Given the description of an element on the screen output the (x, y) to click on. 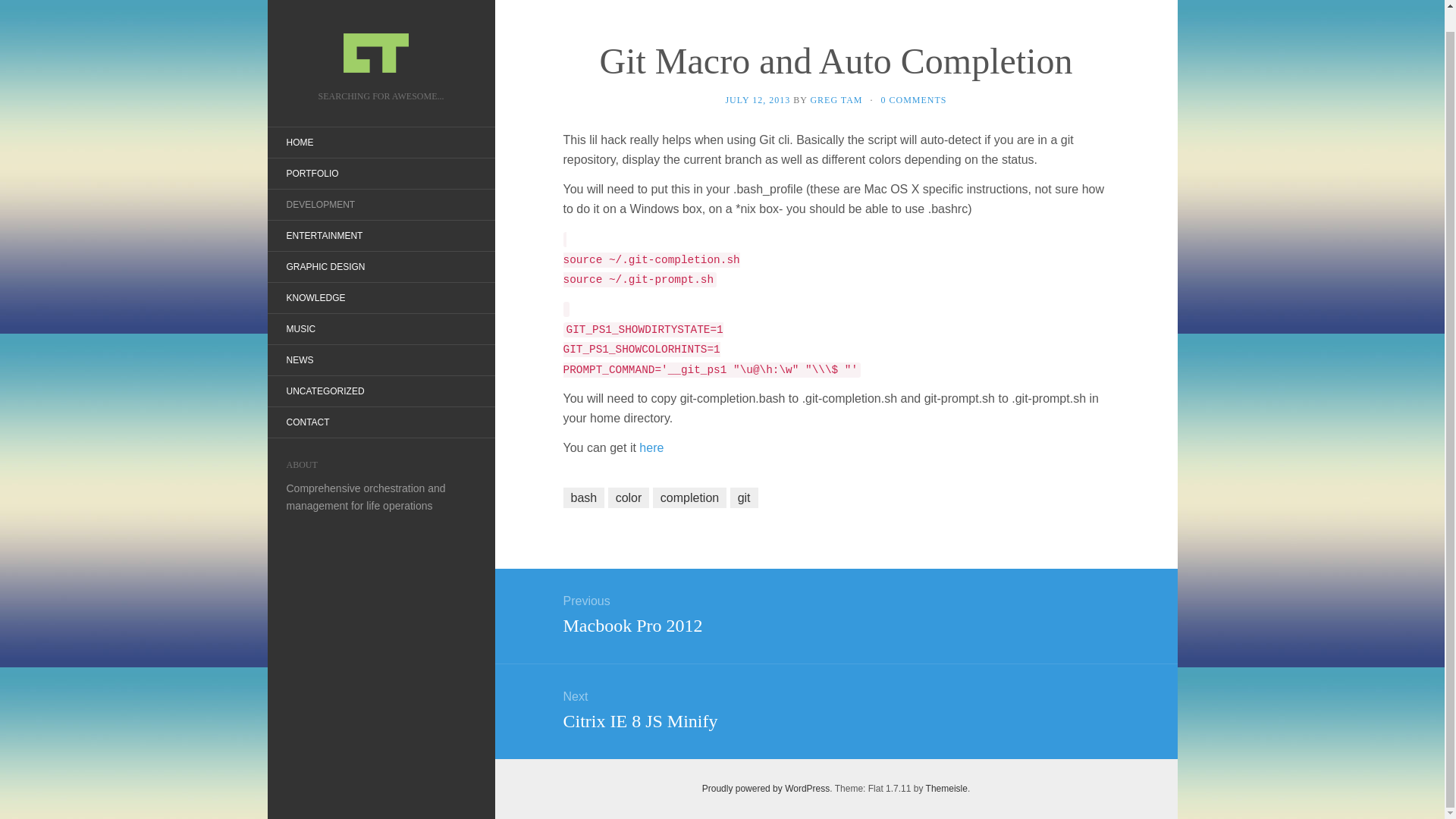
DEVELOPMENT (320, 204)
HOME (298, 142)
PORTFOLIO (311, 173)
here (835, 612)
completion (651, 447)
KNOWLEDGE (689, 497)
GREG TAM (835, 708)
Proudly powered by WordPress (315, 298)
GRAPHIC DESIGN (835, 100)
Greg Tam (765, 787)
NEWS (325, 266)
git-completion (380, 38)
bash (298, 360)
